Given the description of an element on the screen output the (x, y) to click on. 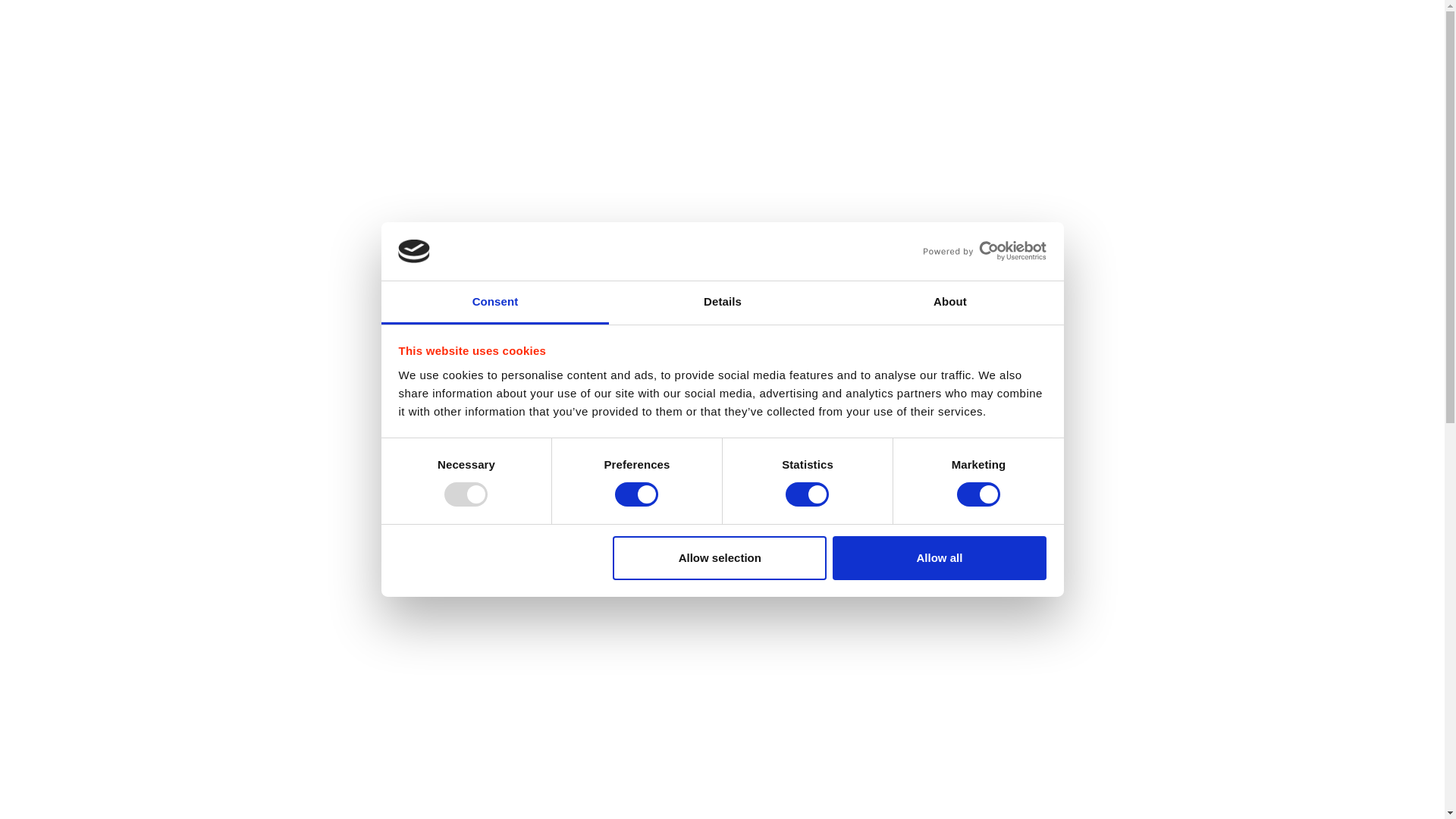
Search (1175, 143)
About (948, 302)
Details (721, 302)
Consent (494, 302)
Home (327, 37)
Enter the terms you wish to search for. (1083, 142)
